Given the description of an element on the screen output the (x, y) to click on. 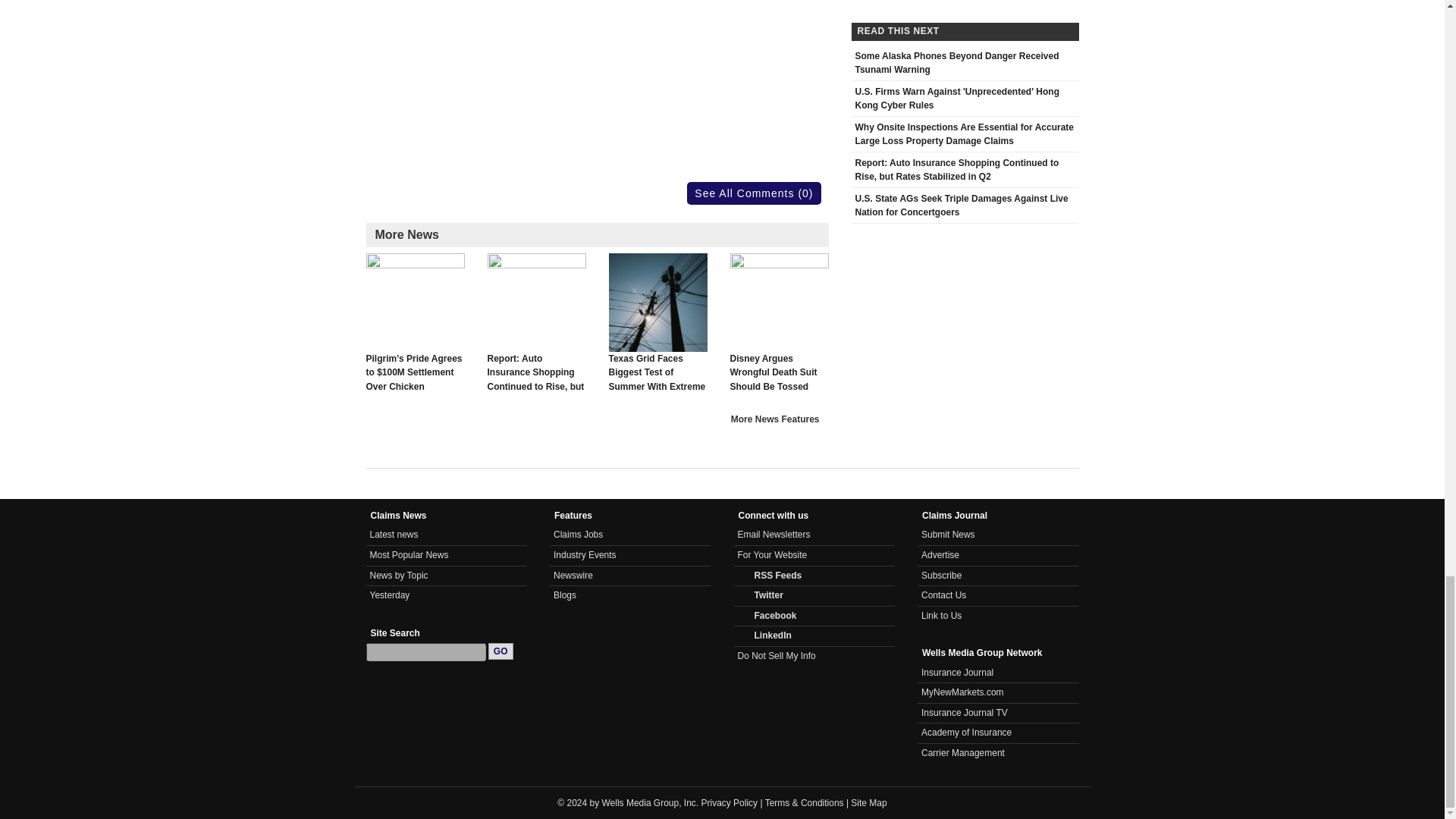
Go (500, 651)
Insurance Market Search Engine (962, 692)
Insurance News by Topic (398, 575)
